Given the description of an element on the screen output the (x, y) to click on. 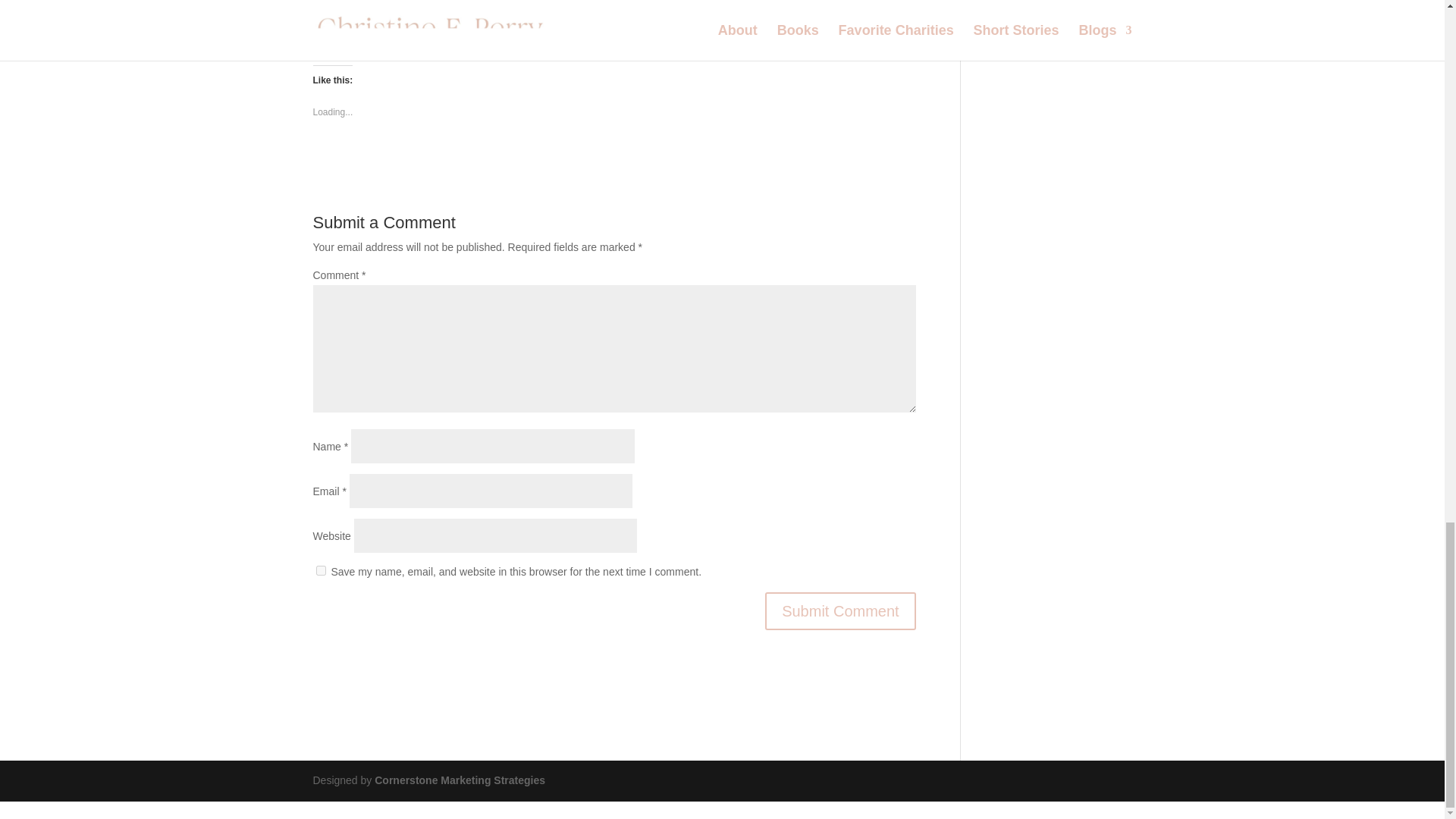
Click to share on Facebook (350, 33)
X (415, 33)
Click to share on X (415, 33)
Facebook (350, 33)
yes (319, 570)
Submit Comment (840, 610)
Submit Comment (840, 610)
Cornerstone Marketing Strategies (459, 779)
